Given the description of an element on the screen output the (x, y) to click on. 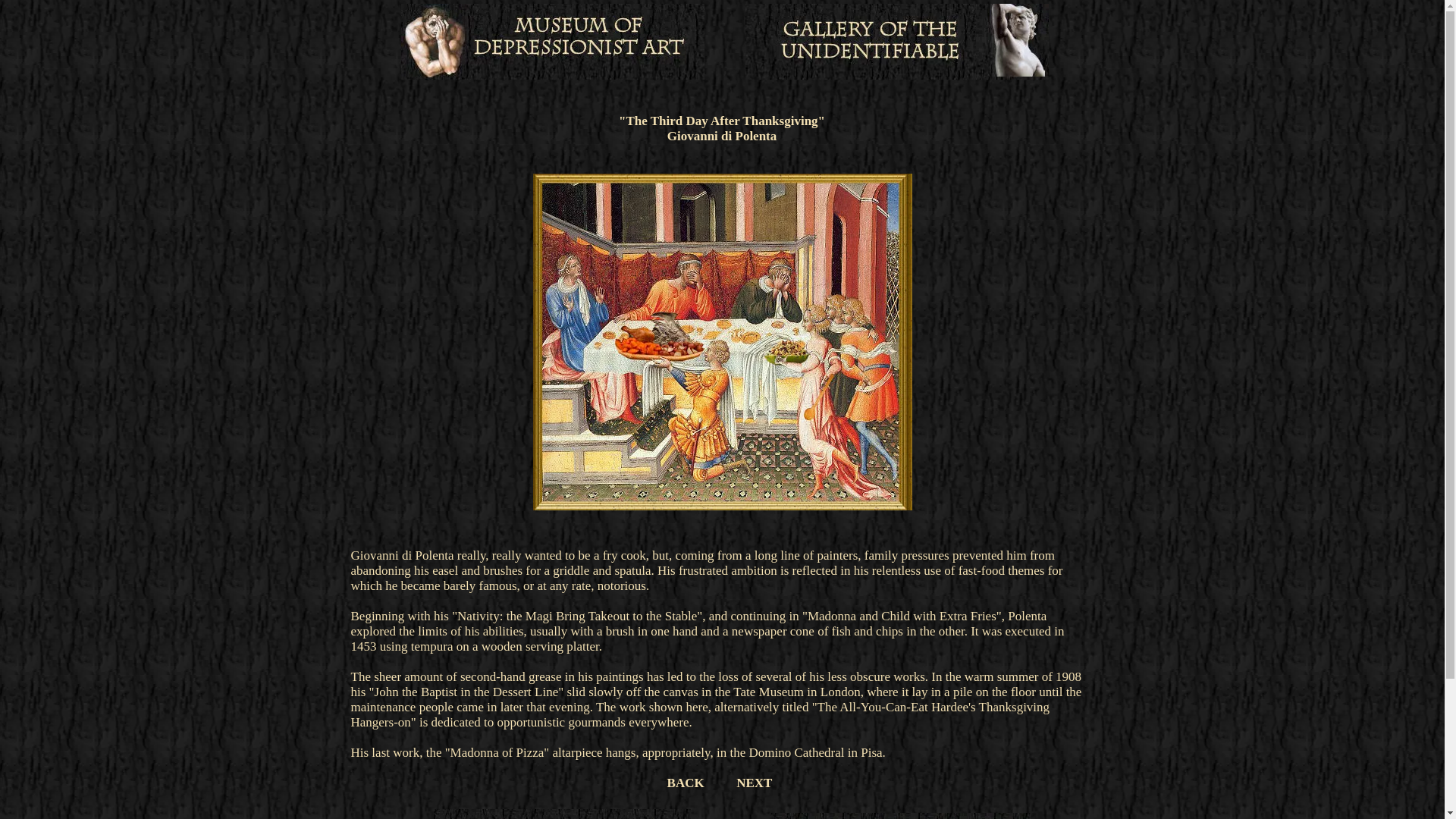
gallery header.jpg (896, 41)
NEXT (753, 782)
BACK (685, 782)
